Given the description of an element on the screen output the (x, y) to click on. 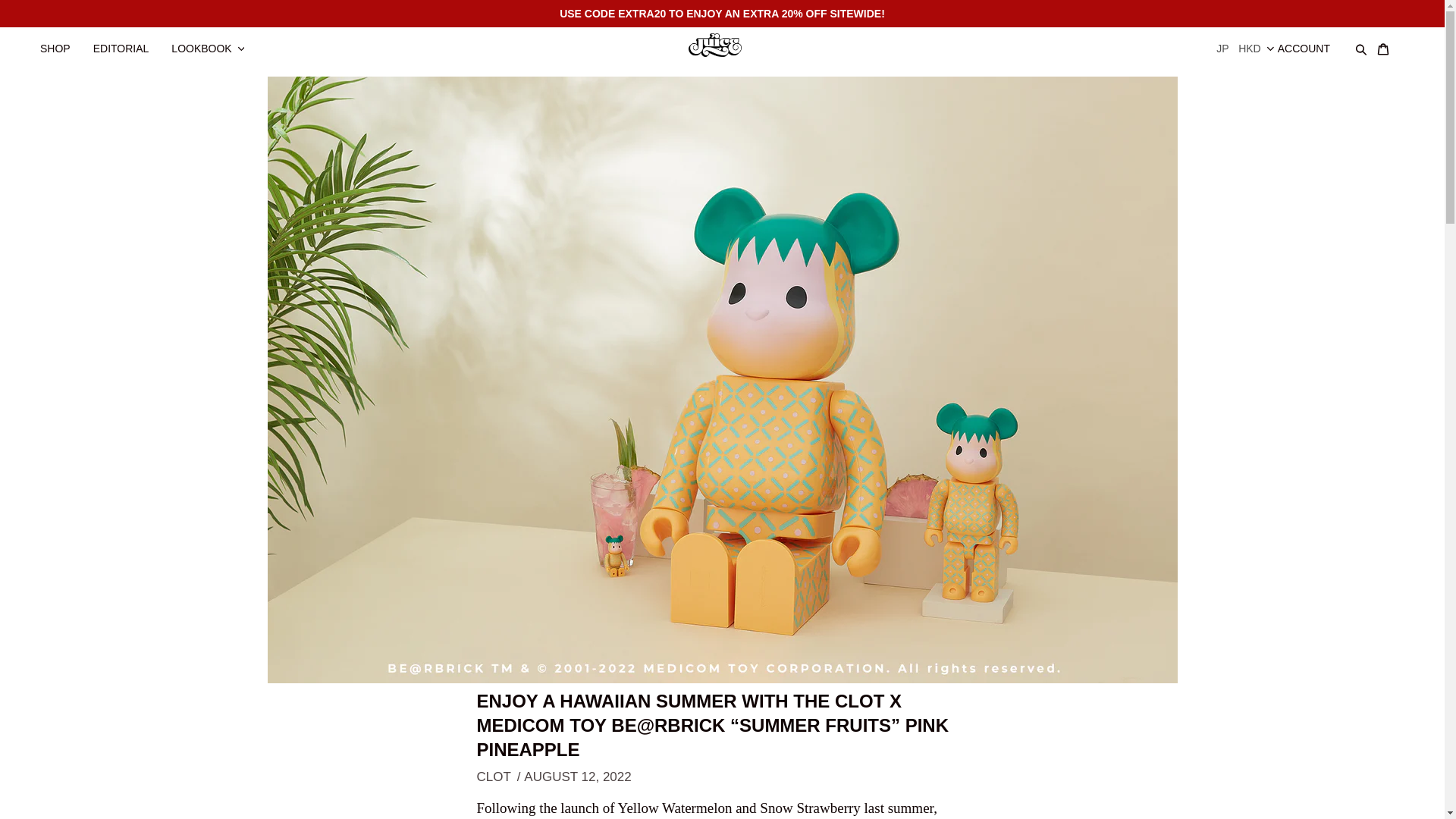
JUICESTORE (722, 43)
ACCOUNT (1311, 41)
SHOP (62, 41)
EDITORIAL (128, 41)
CART (1390, 41)
